Given the description of an element on the screen output the (x, y) to click on. 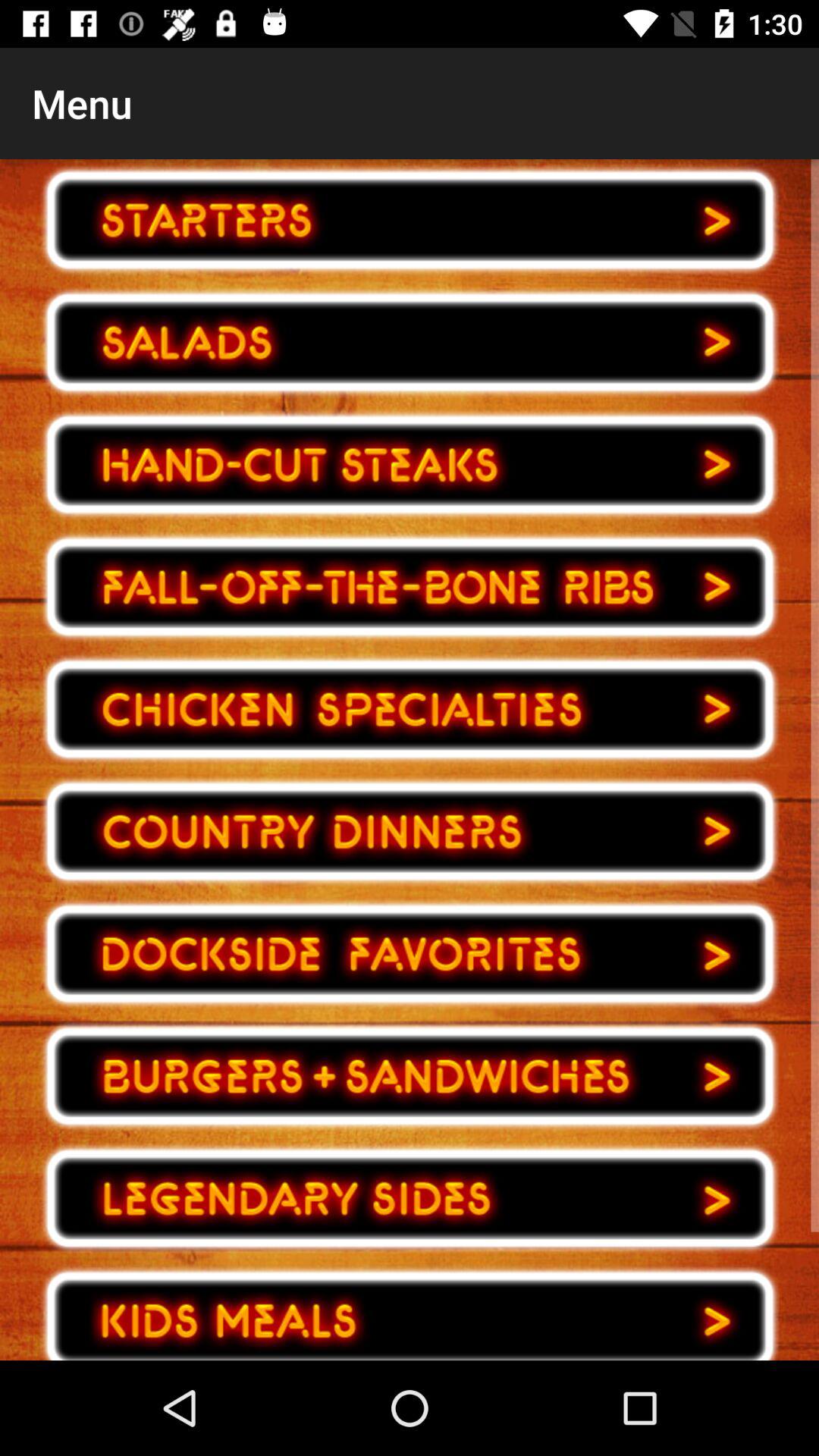
choose option (409, 220)
